Given the description of an element on the screen output the (x, y) to click on. 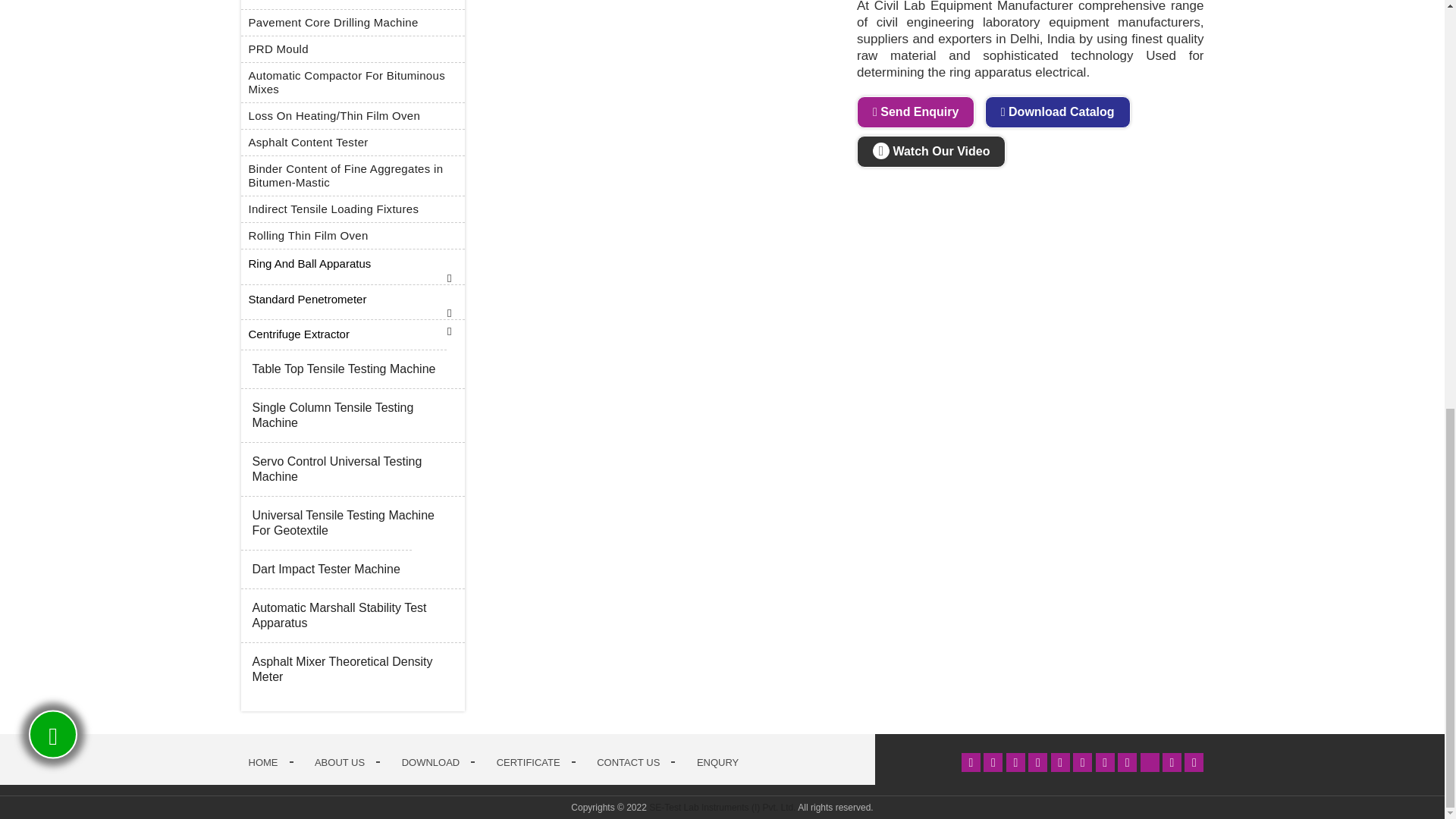
Download Catalog (1058, 111)
Send Enquiry (915, 111)
Watch Our Video (931, 151)
